Given the description of an element on the screen output the (x, y) to click on. 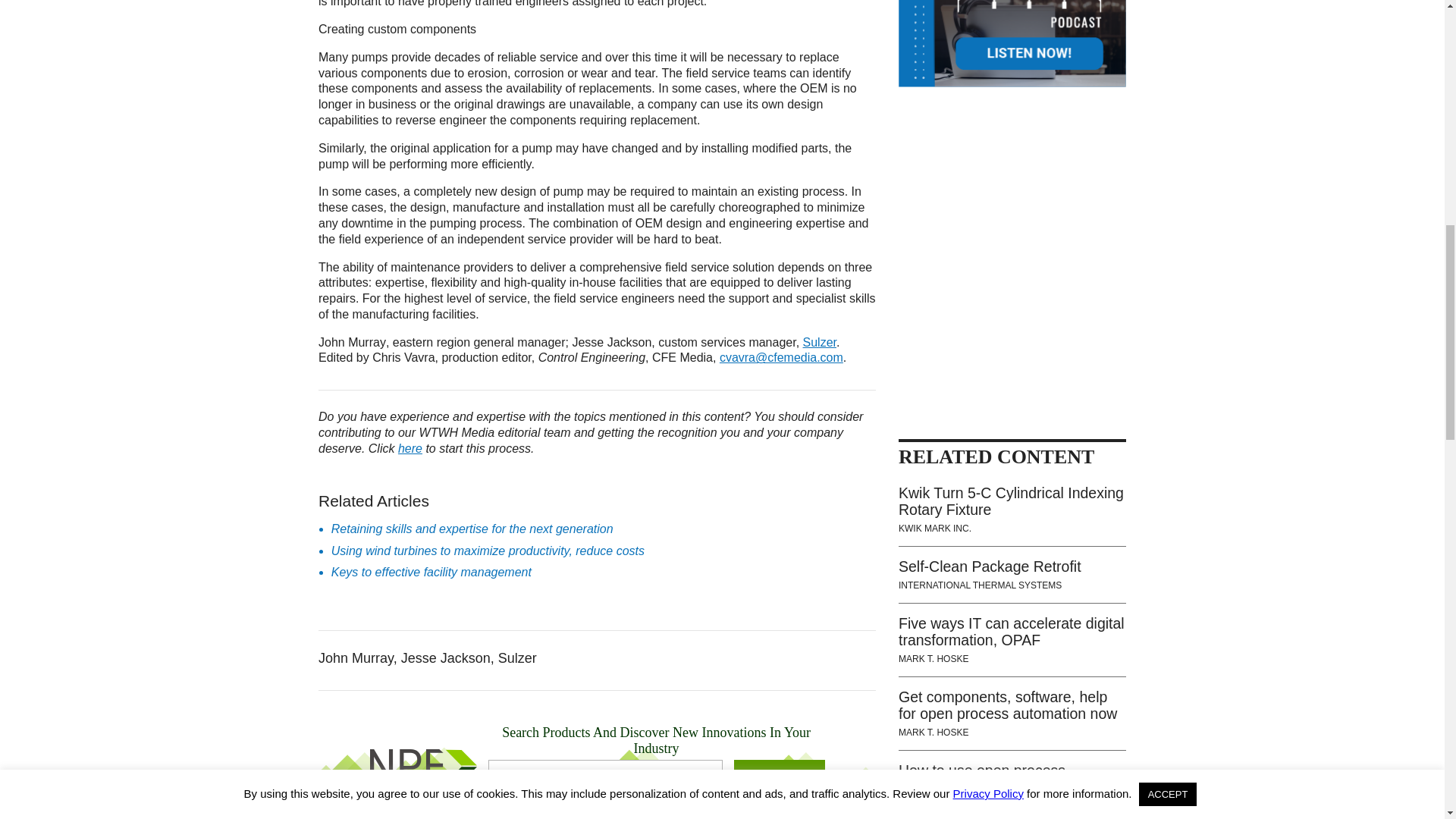
How to Contribute (409, 448)
